Given the description of an element on the screen output the (x, y) to click on. 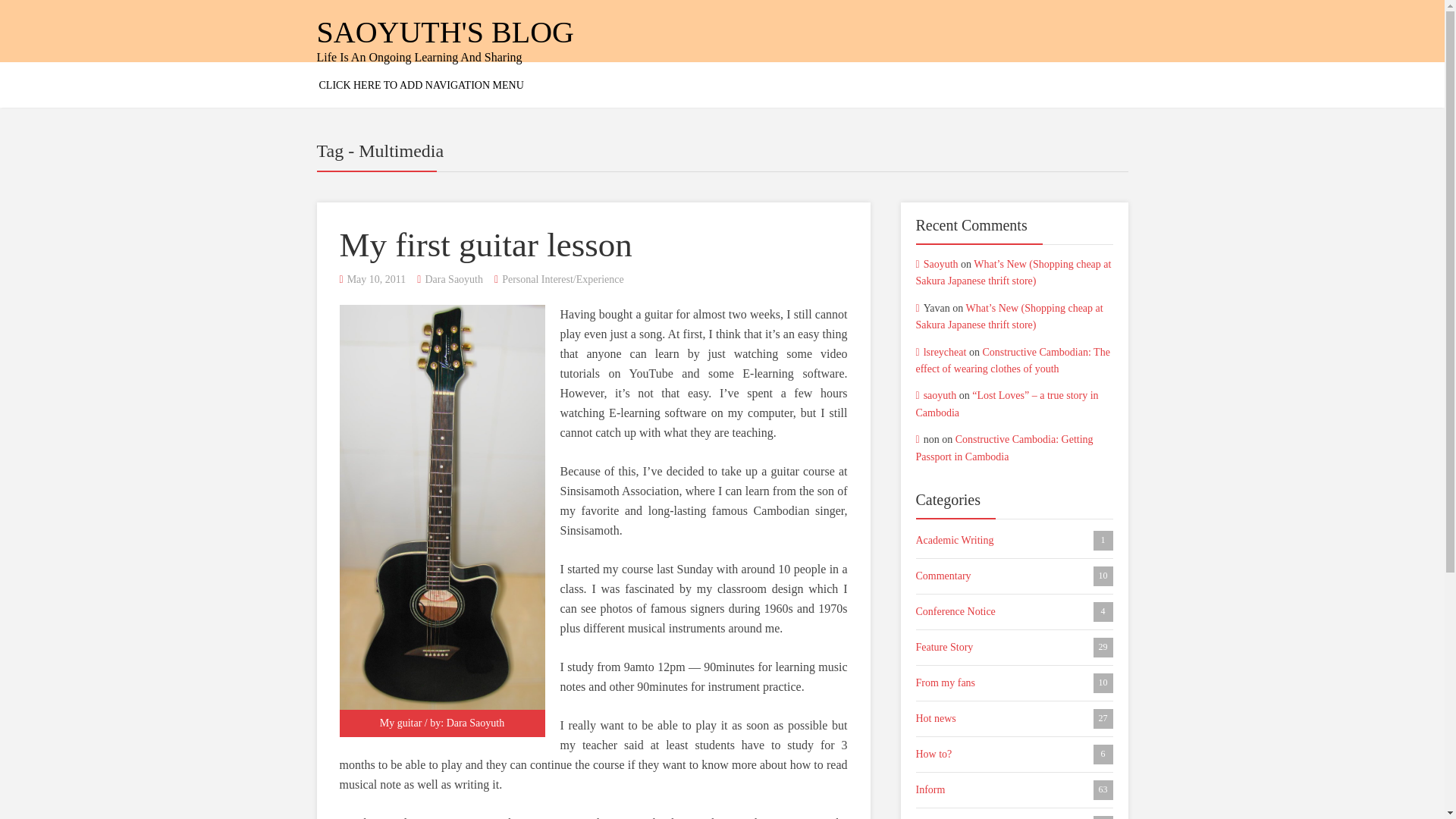
My first guitar lesson (485, 244)
lsreycheat (1014, 576)
saoyuth (944, 351)
Dara Saoyuth (939, 395)
Constructive Cambodia: Getting Passport in Cambodia (454, 279)
CLICK HERE TO ADD NAVIGATION MENU (1014, 718)
Saoyuth's Blog (1004, 447)
